Given the description of an element on the screen output the (x, y) to click on. 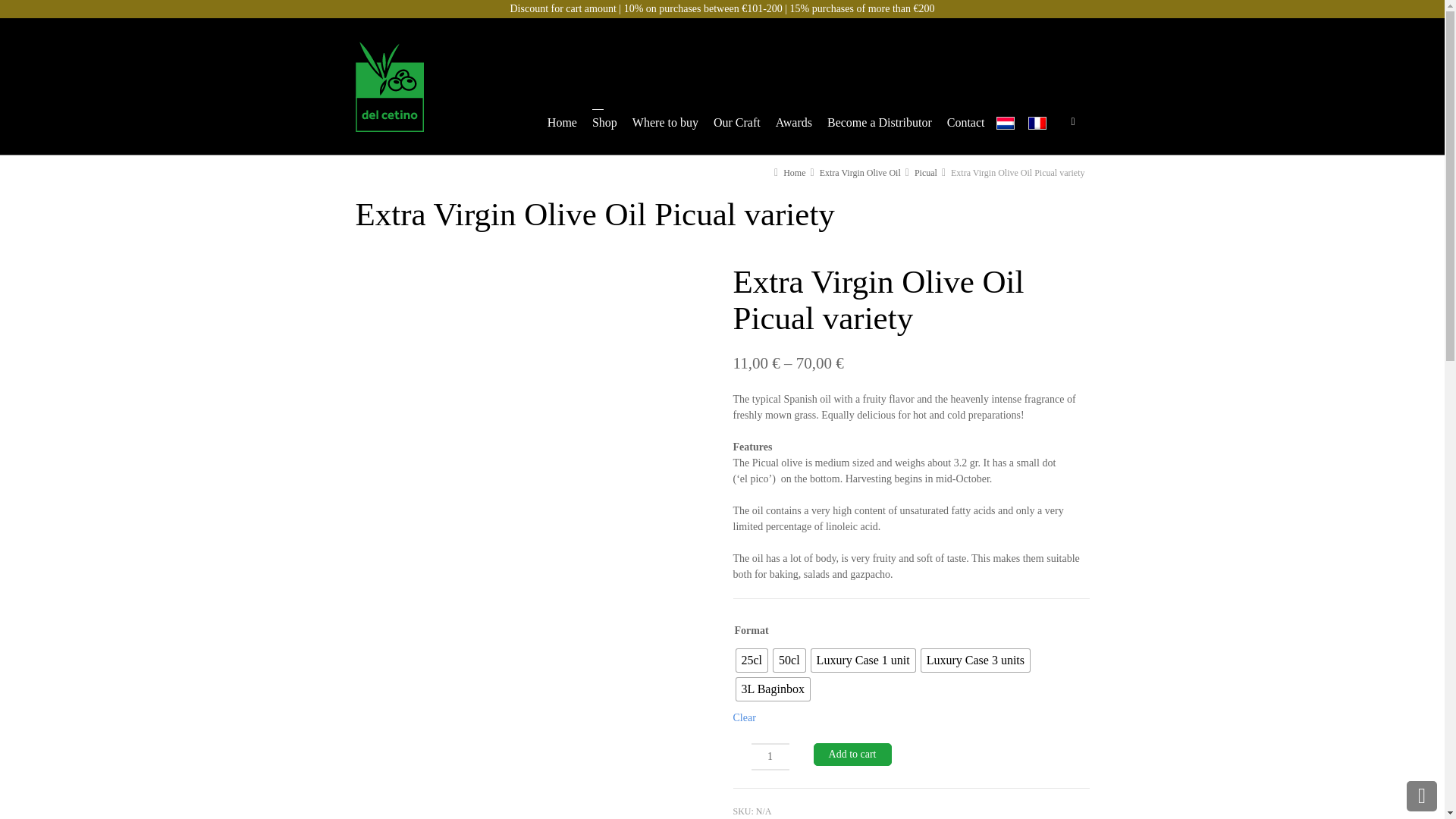
Home (794, 172)
Luxury Case 1 unit (862, 660)
Awards (793, 126)
Luxury Case 3 units (975, 660)
3L Baginbox (772, 689)
Picual (925, 172)
Extra Virgin Olive Oil (860, 172)
1 (770, 756)
Shop (604, 126)
Our Craft (737, 126)
Become a Distributor (879, 126)
25cl (752, 660)
Where to buy (665, 126)
Add to cart (852, 753)
Home (562, 126)
